Given the description of an element on the screen output the (x, y) to click on. 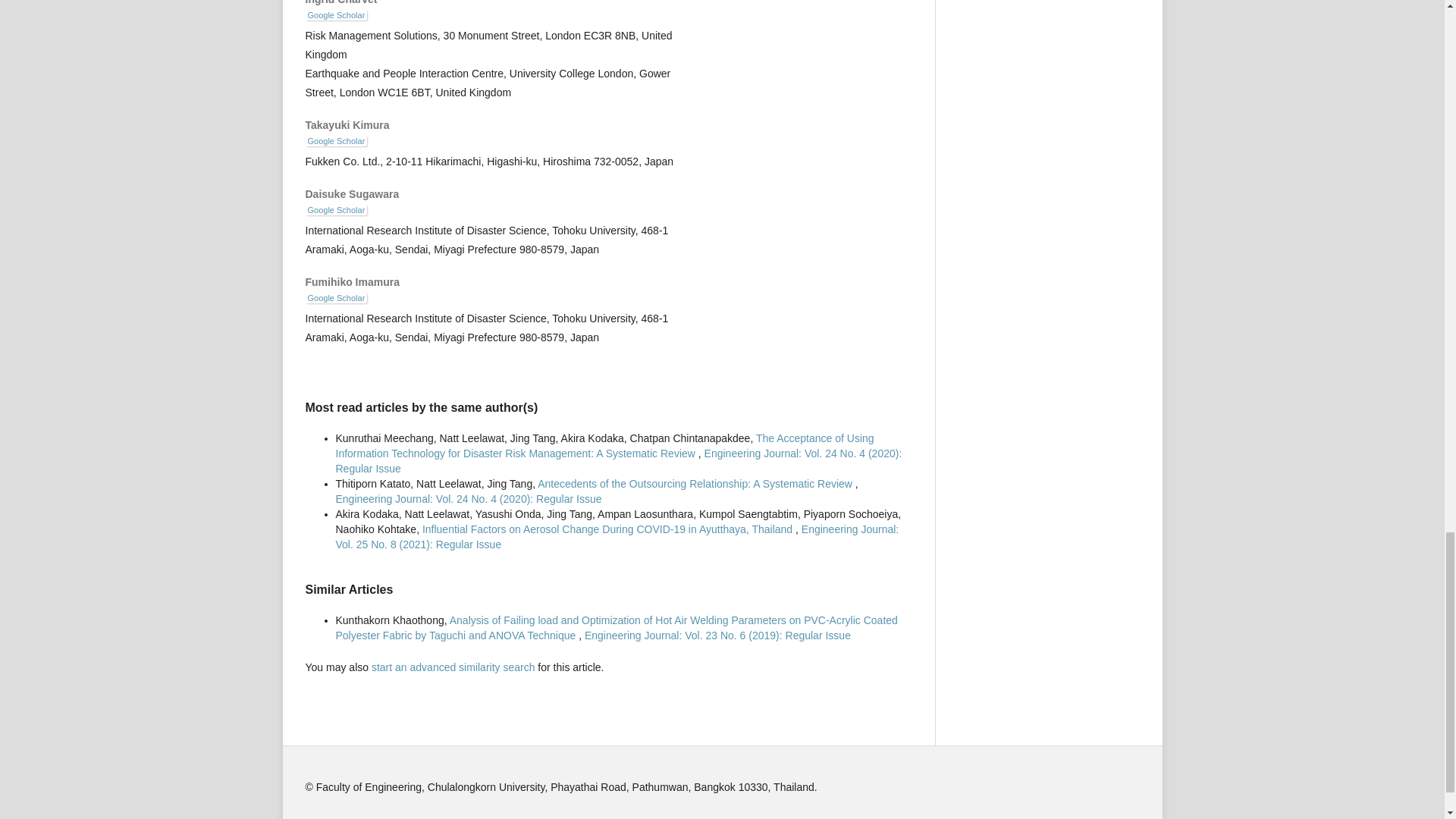
Google Scholar (335, 297)
Google Scholar (335, 209)
Google Scholar (335, 140)
Google Scholar (335, 14)
